Given the description of an element on the screen output the (x, y) to click on. 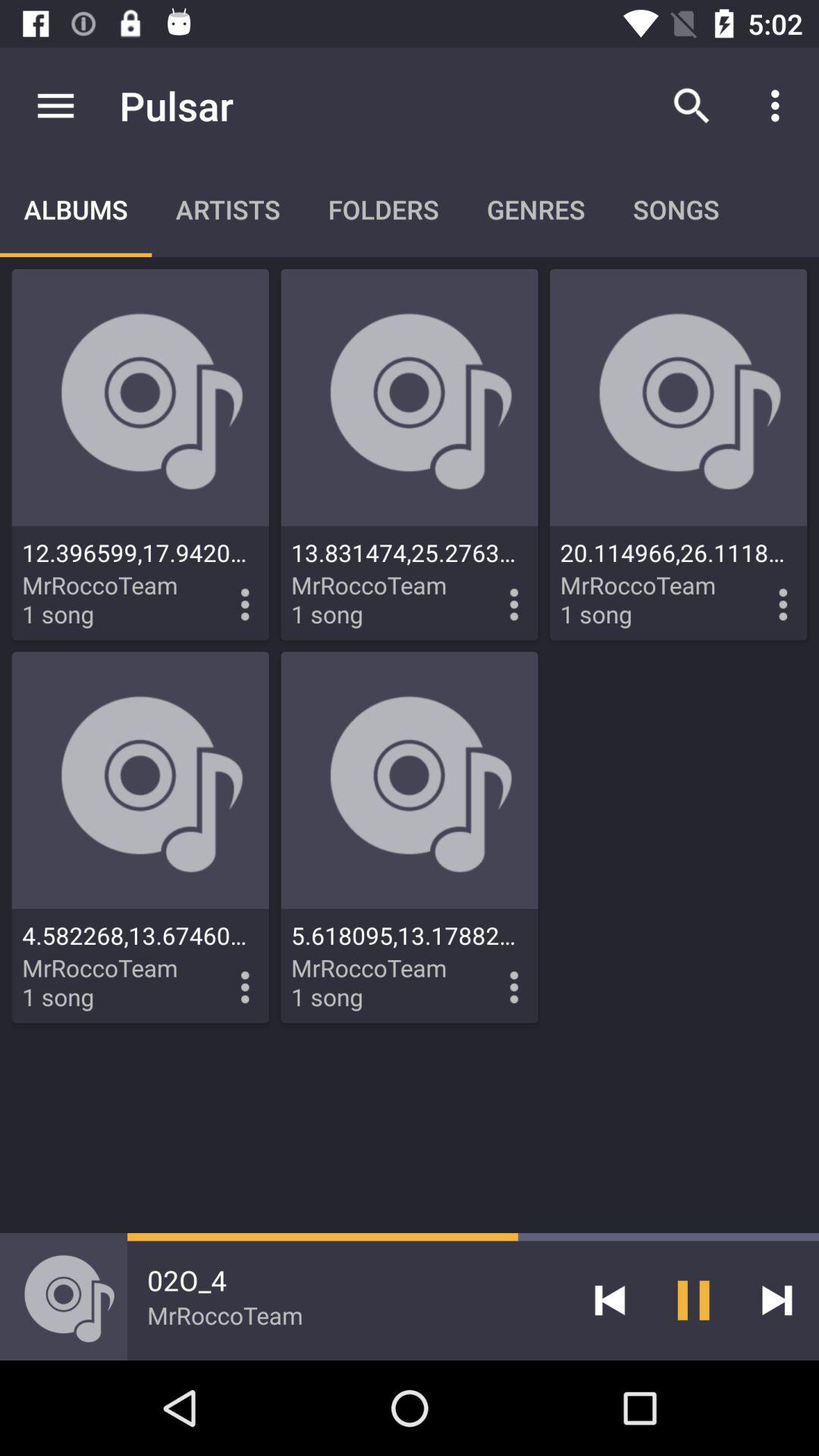
open the icon above songs icon (691, 105)
